Given the description of an element on the screen output the (x, y) to click on. 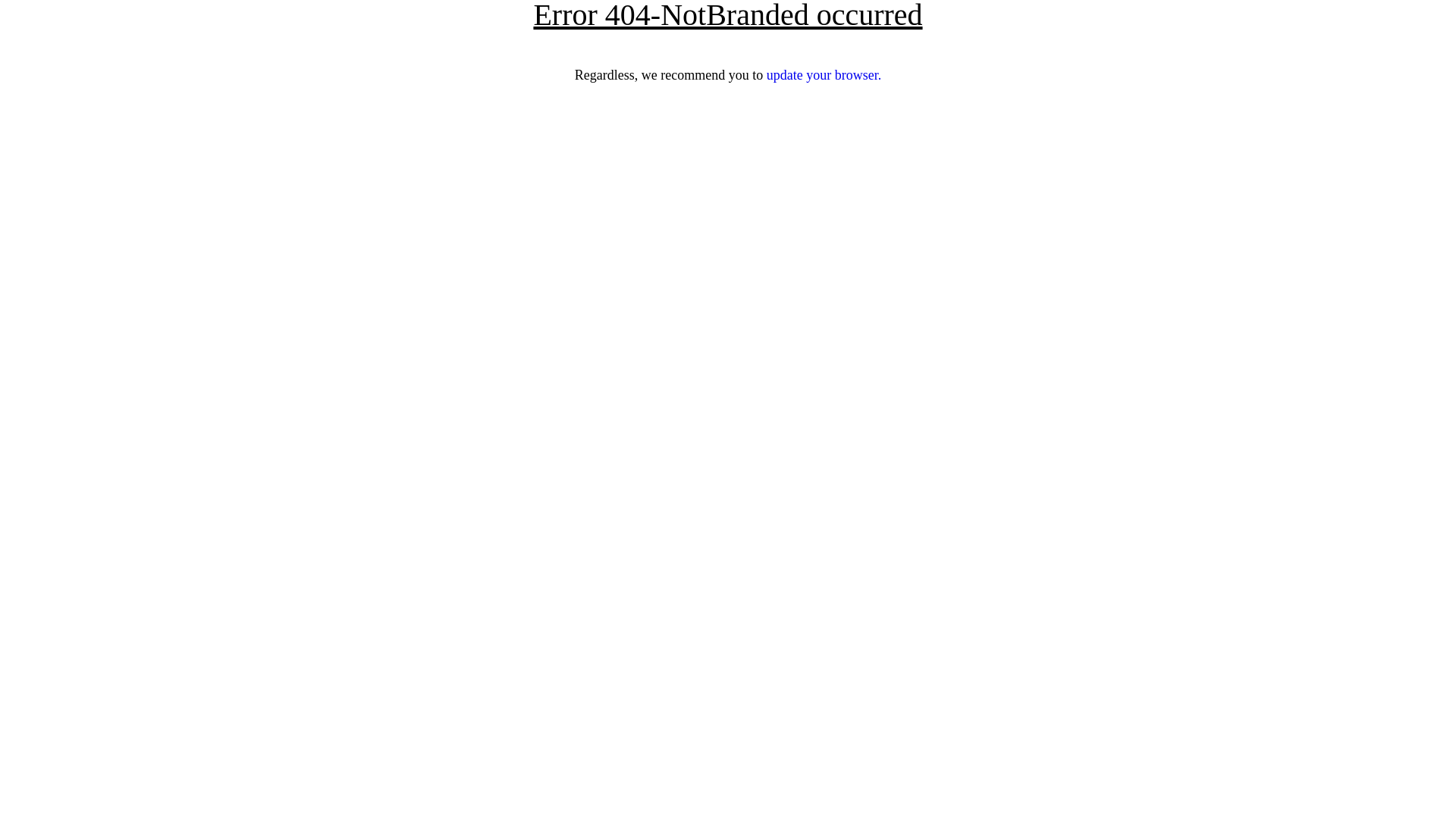
update your browser. Element type: text (823, 74)
